Given the description of an element on the screen output the (x, y) to click on. 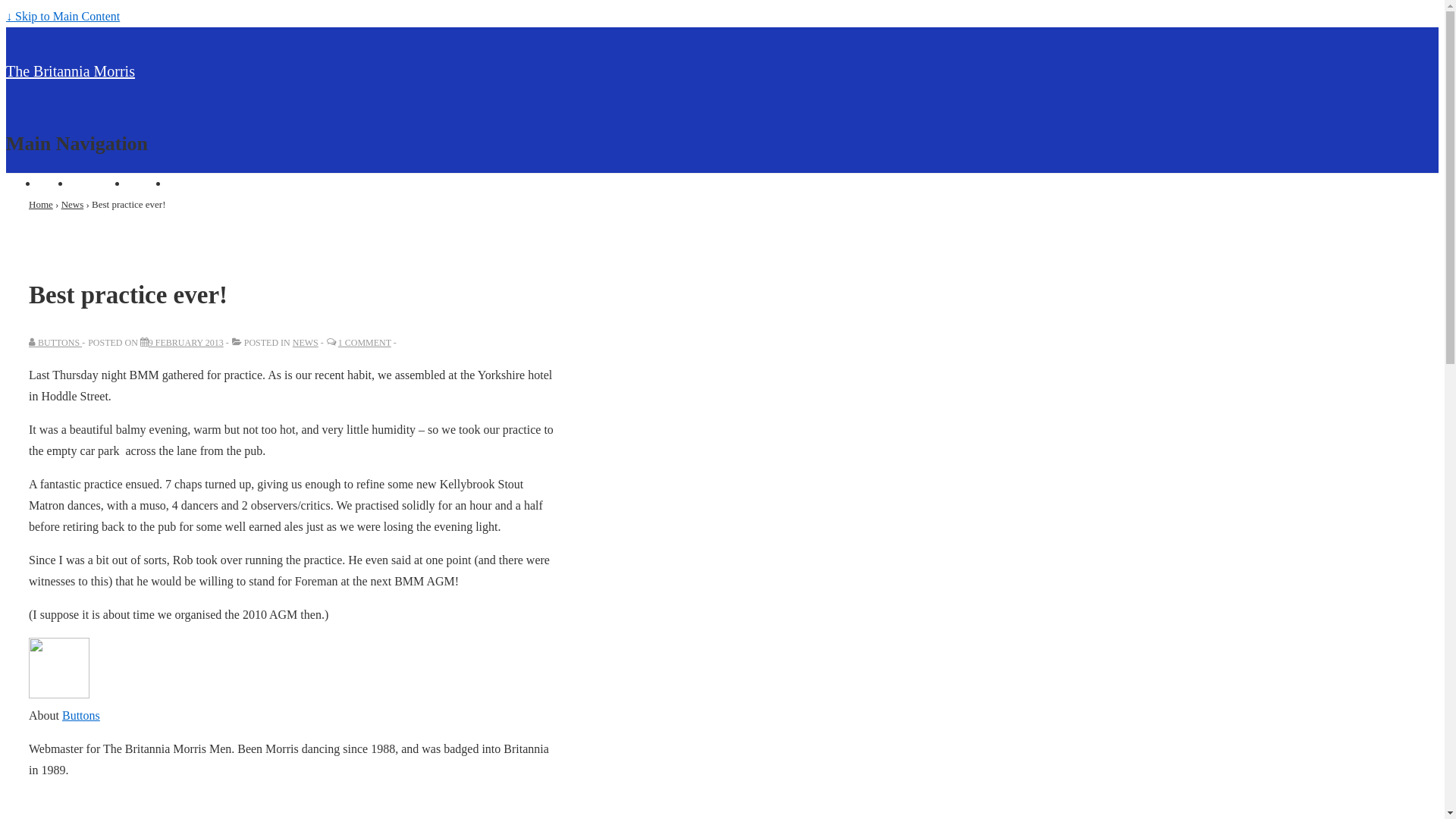
Buttons Element type: text (81, 715)
The Britannia Morris Element type: text (70, 70)
Home Element type: text (40, 204)
9 FEBRUARY 2013 Element type: text (185, 342)
Contact us Element type: text (97, 182)
BUTTONS Element type: text (54, 342)
NEWS Element type: text (305, 342)
1 COMMENT Element type: text (364, 342)
News Element type: text (72, 204)
Dance Notes Element type: text (200, 182)
History Element type: text (146, 182)
Home Element type: text (53, 182)
